Given the description of an element on the screen output the (x, y) to click on. 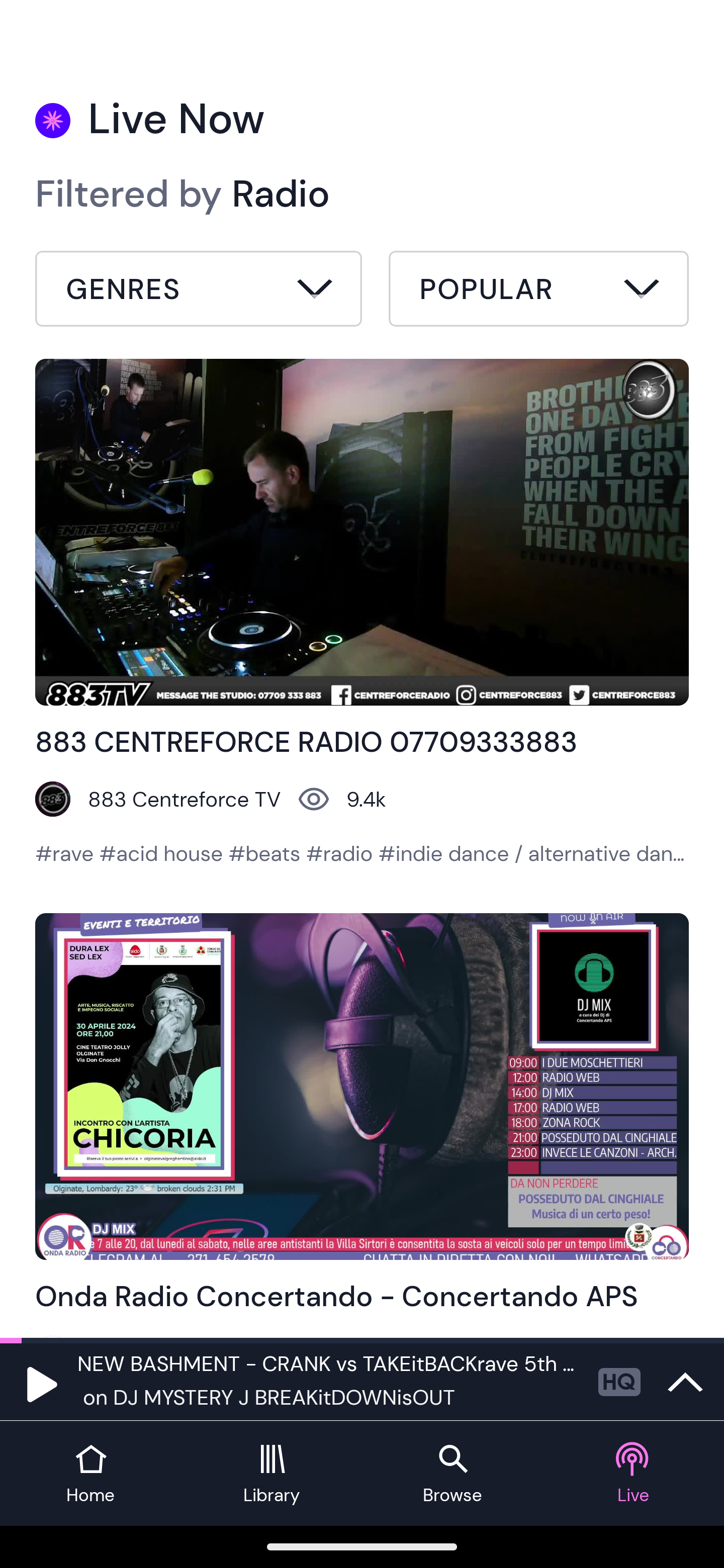
Filter by button Radio (198, 291)
Sort by button Popular (538, 291)
Home tab Home (90, 1473)
Library tab Library (271, 1473)
Browse tab Browse (452, 1473)
Live tab Live (633, 1473)
